Given the description of an element on the screen output the (x, y) to click on. 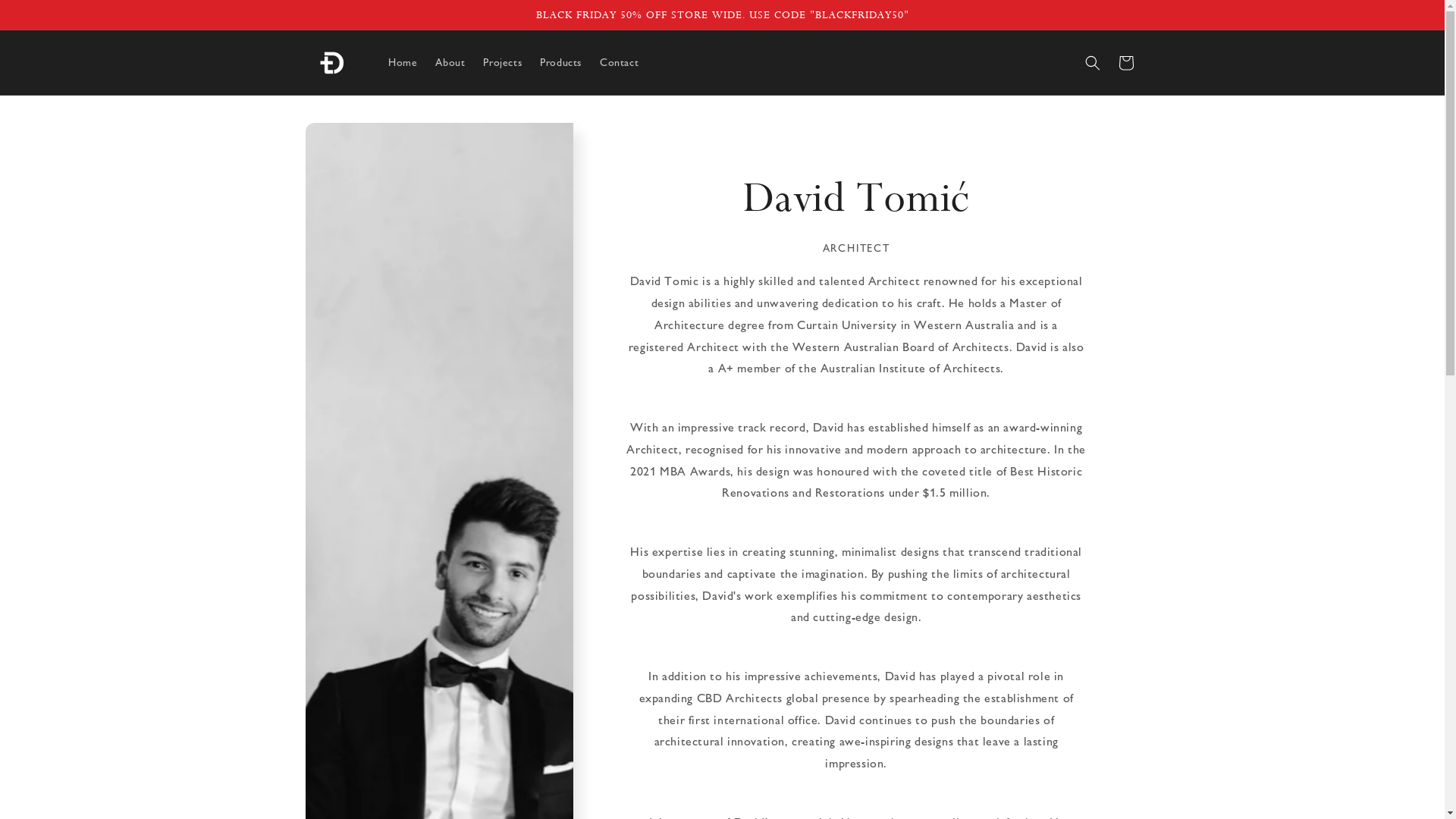
Projects Element type: text (501, 62)
Products Element type: text (560, 62)
Home Element type: text (402, 62)
About Element type: text (449, 62)
Contact Element type: text (618, 62)
Cart Element type: text (1125, 62)
